Given the description of an element on the screen output the (x, y) to click on. 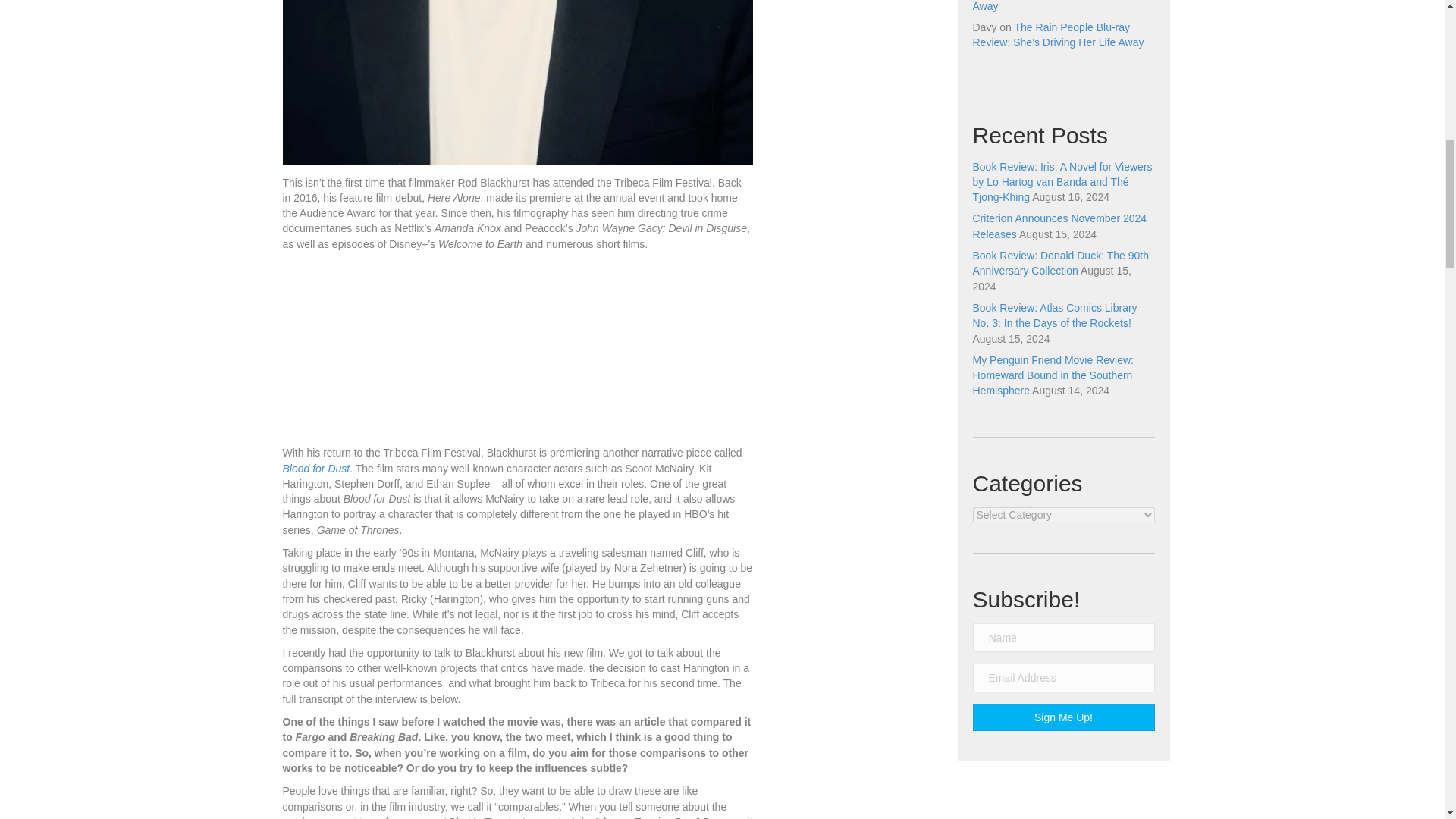
Book Review: Donald Duck: The 90th Anniversary Collection (1060, 262)
Blood for Dust (315, 468)
Criterion Announces November 2024 Releases (1059, 225)
Sign Me Up! (1063, 717)
